Given the description of an element on the screen output the (x, y) to click on. 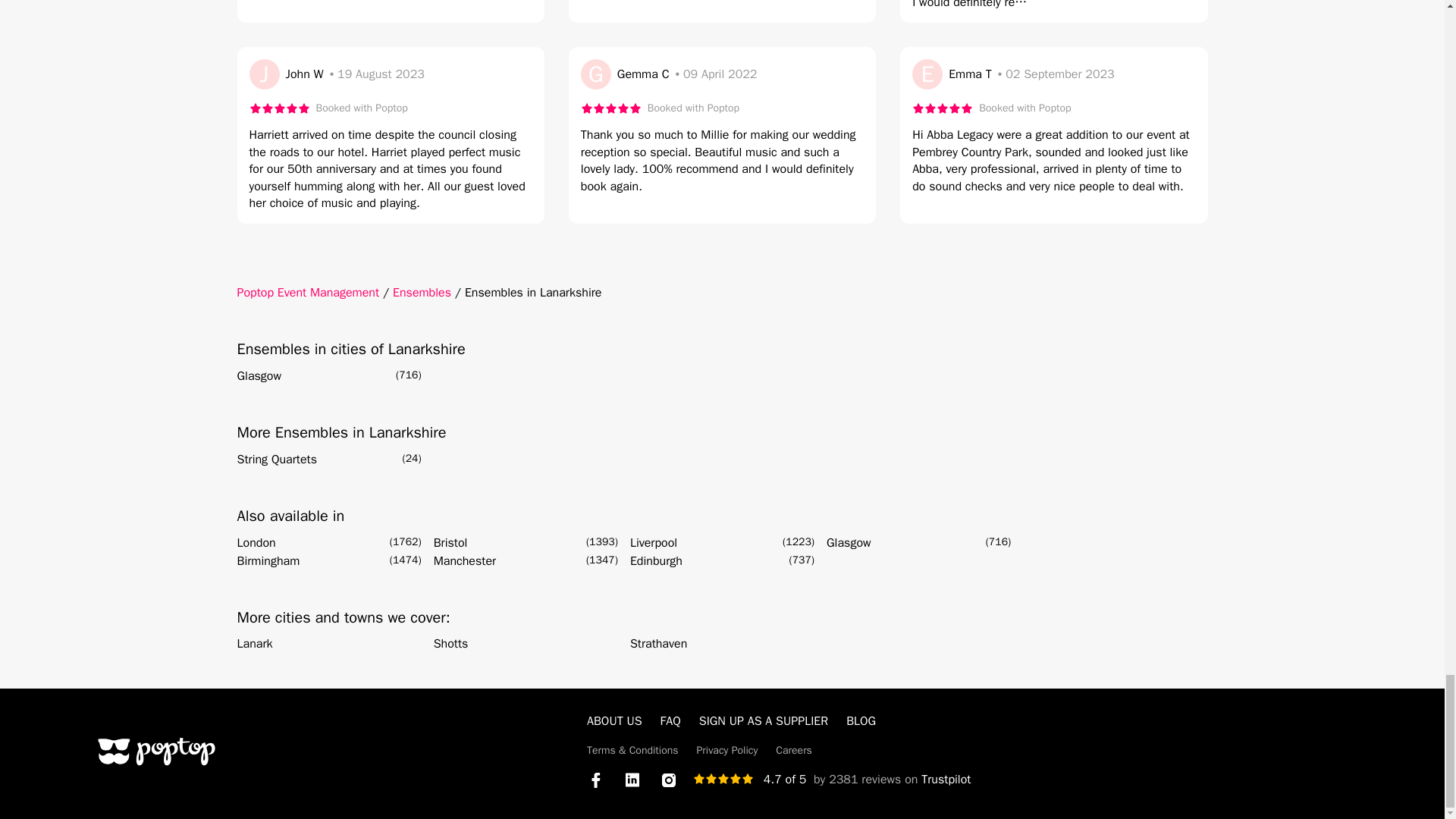
Liverpool (653, 542)
String Quartets (275, 459)
Ensembles (422, 292)
Birmingham (267, 561)
London (255, 542)
SIGN UP AS A SUPPLIER (763, 720)
Manchester (464, 561)
FAQ (671, 720)
Edinburgh (656, 561)
BLOG (860, 720)
